Given the description of an element on the screen output the (x, y) to click on. 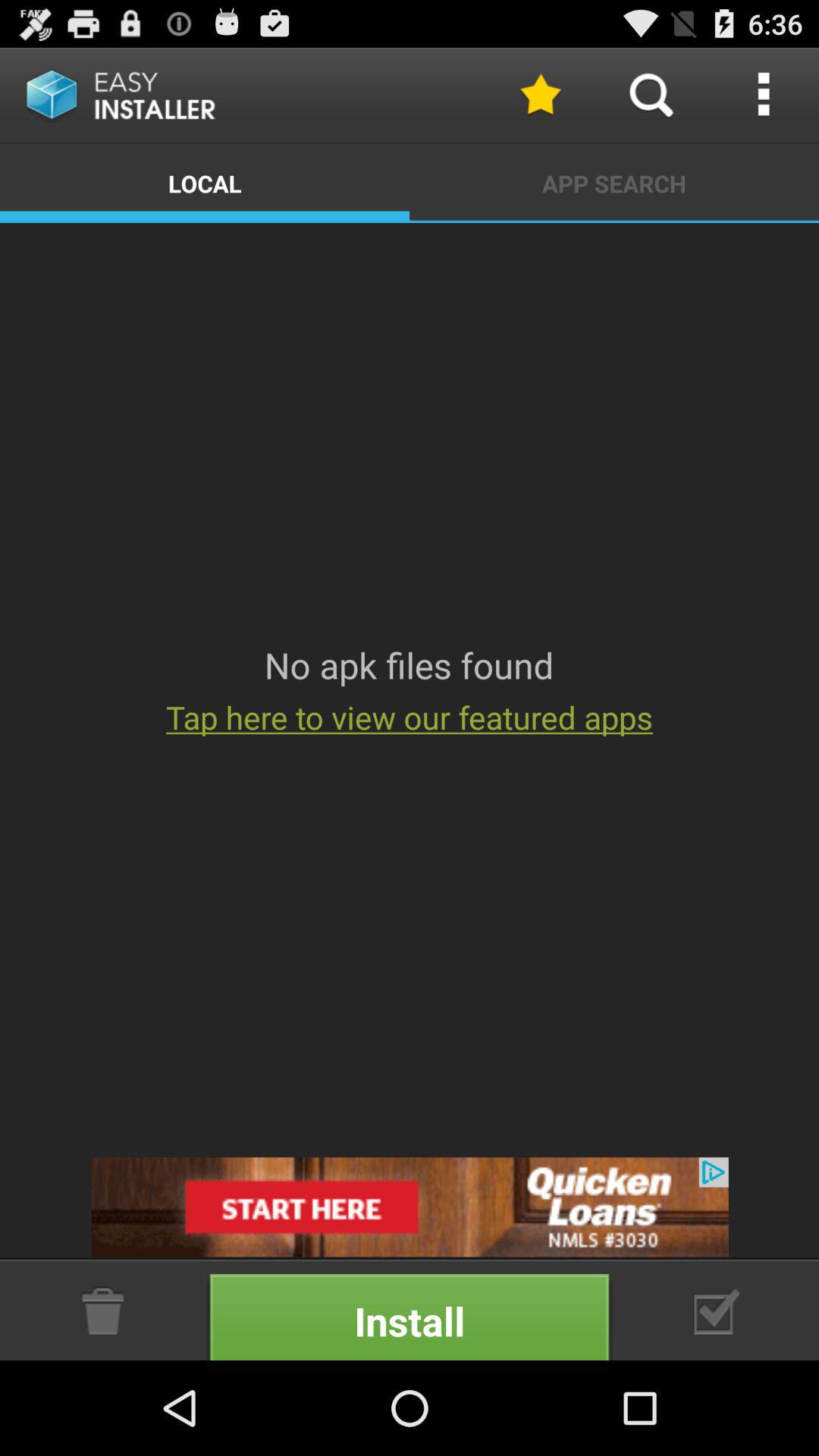
adventisment page (716, 1310)
